Given the description of an element on the screen output the (x, y) to click on. 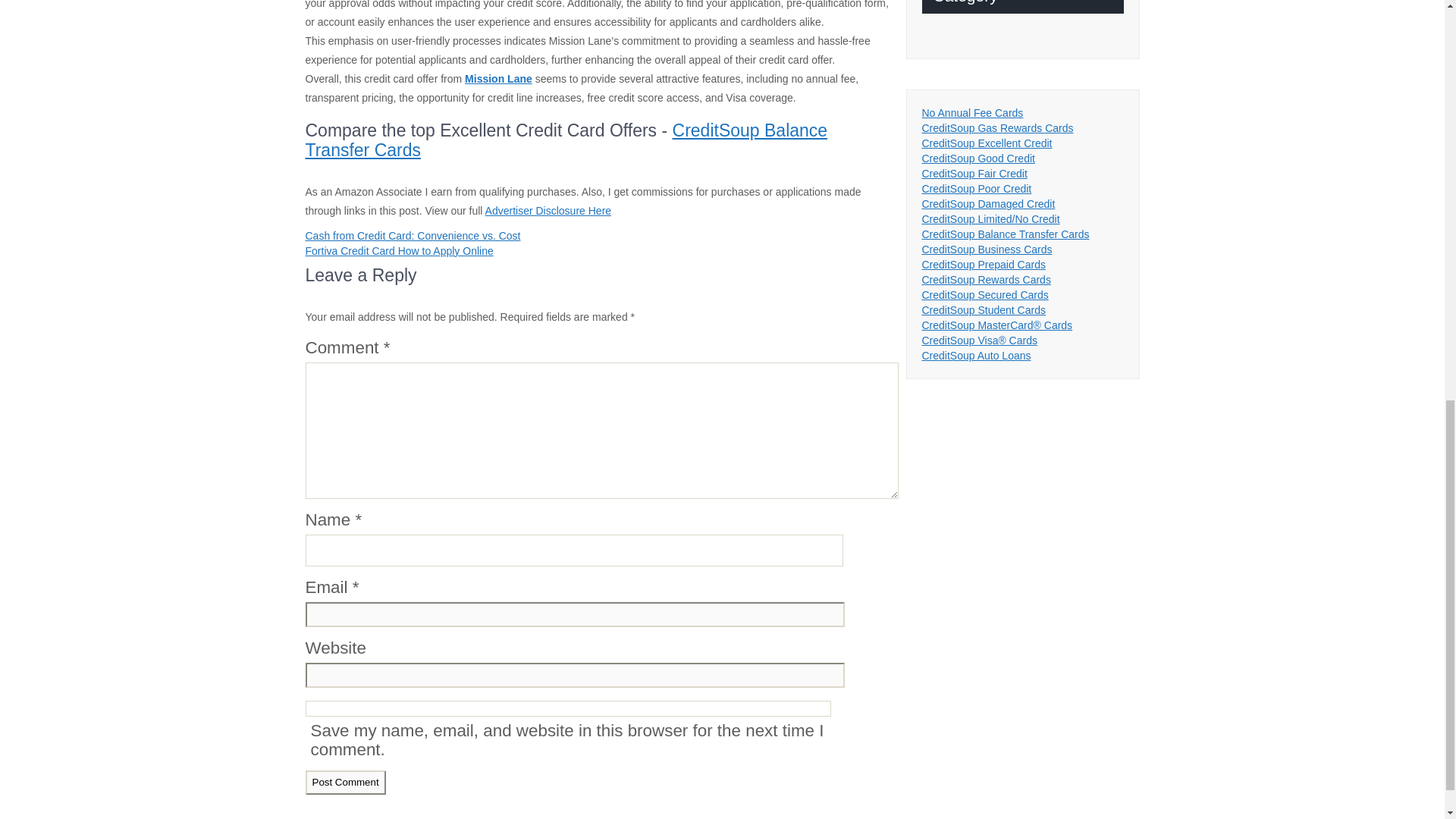
Advertiser Disclosure Here (547, 210)
Post Comment (344, 781)
Post Comment (344, 781)
Mission Lane (498, 78)
CreditSoup Fair Credit (974, 173)
CreditSoup Balance Transfer Cards (565, 139)
CreditSoup Good Credit (978, 158)
No Annual Fee Cards (972, 112)
CreditSoup Damaged Credit (988, 203)
Fortiva Credit Card How to Apply Online (398, 250)
Cash from Credit Card: Convenience vs. Cost (411, 235)
CreditSoup Poor Credit (976, 188)
CreditSoup Gas Rewards Cards (997, 128)
yes (566, 708)
CreditSoup Excellent Credit (986, 143)
